Given the description of an element on the screen output the (x, y) to click on. 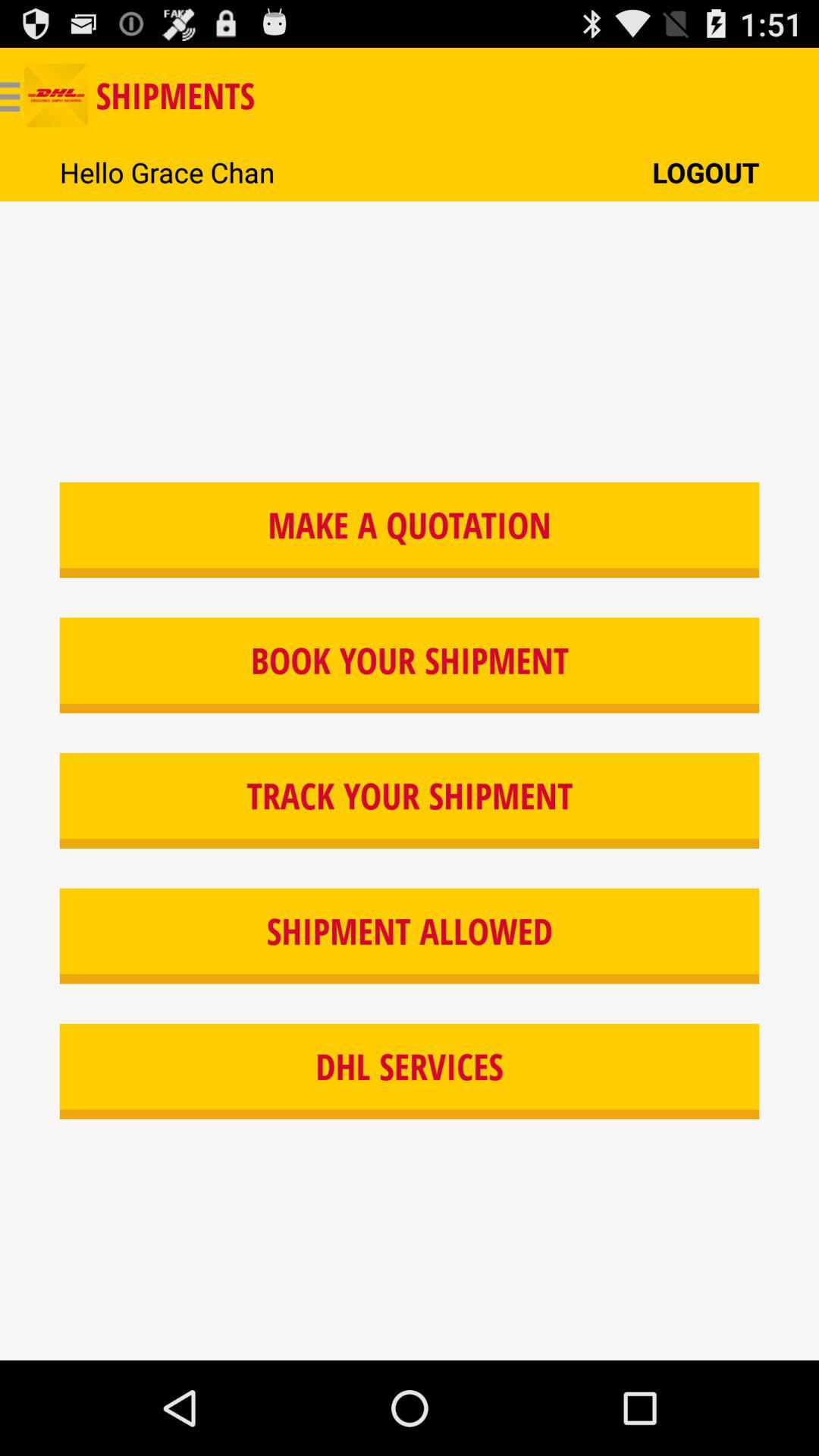
turn off icon above dhl services item (409, 935)
